Given the description of an element on the screen output the (x, y) to click on. 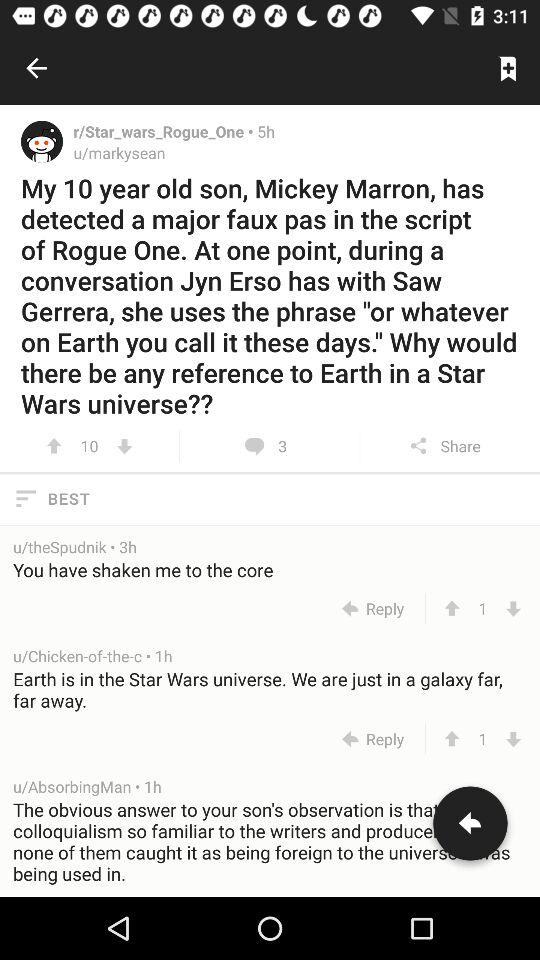
open the you have shaken (271, 569)
